Given the description of an element on the screen output the (x, y) to click on. 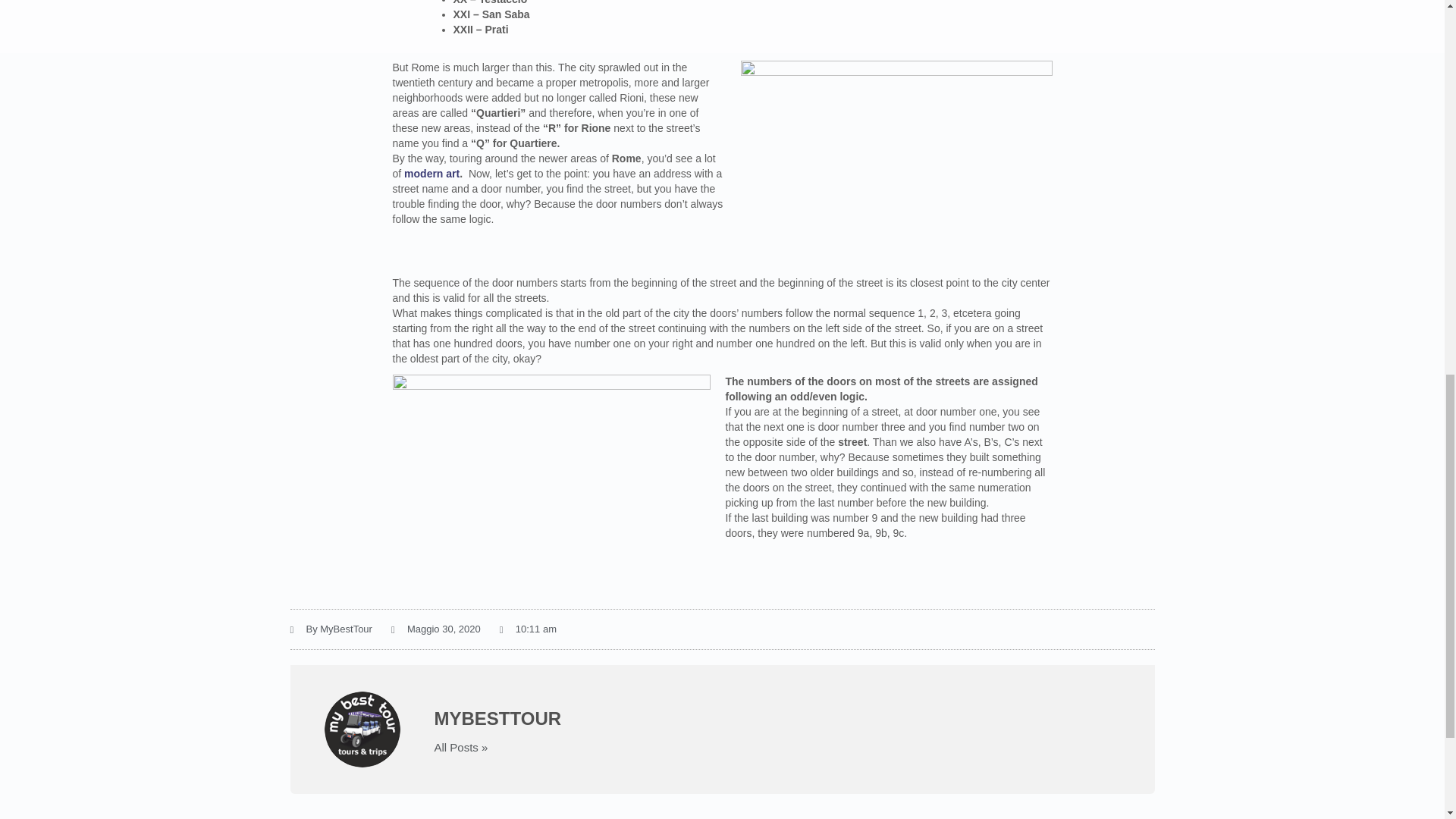
By MyBestTour (330, 628)
Maggio 30, 2020 (435, 628)
MYBESTTOUR (776, 718)
modern art (432, 173)
